Given the description of an element on the screen output the (x, y) to click on. 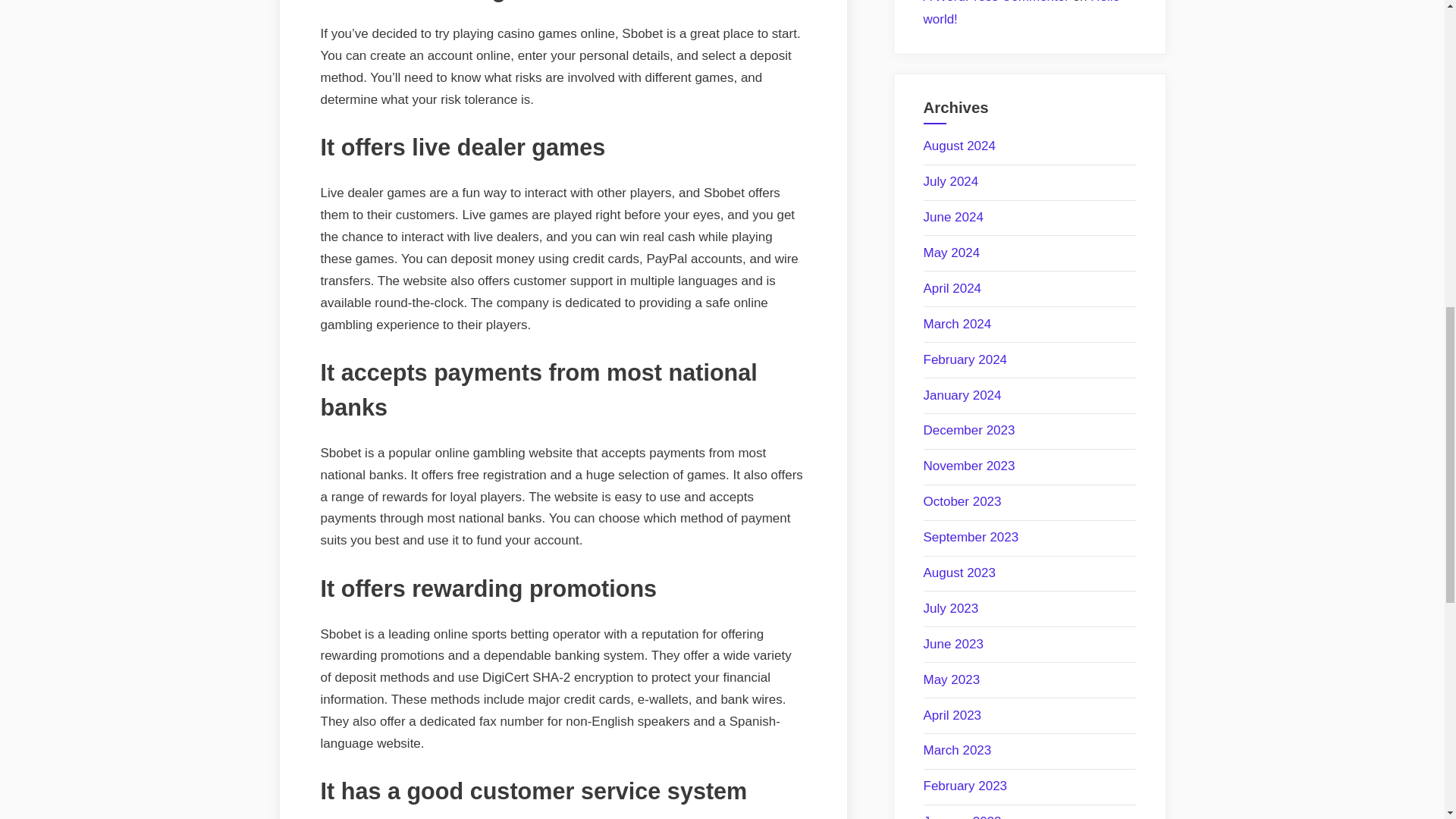
April 2024 (952, 288)
February 2024 (965, 359)
March 2024 (957, 323)
May 2024 (951, 252)
October 2023 (962, 501)
July 2024 (950, 181)
A WordPress Commenter (995, 2)
December 2023 (968, 430)
Hello world! (1022, 13)
September 2023 (971, 536)
